Given the description of an element on the screen output the (x, y) to click on. 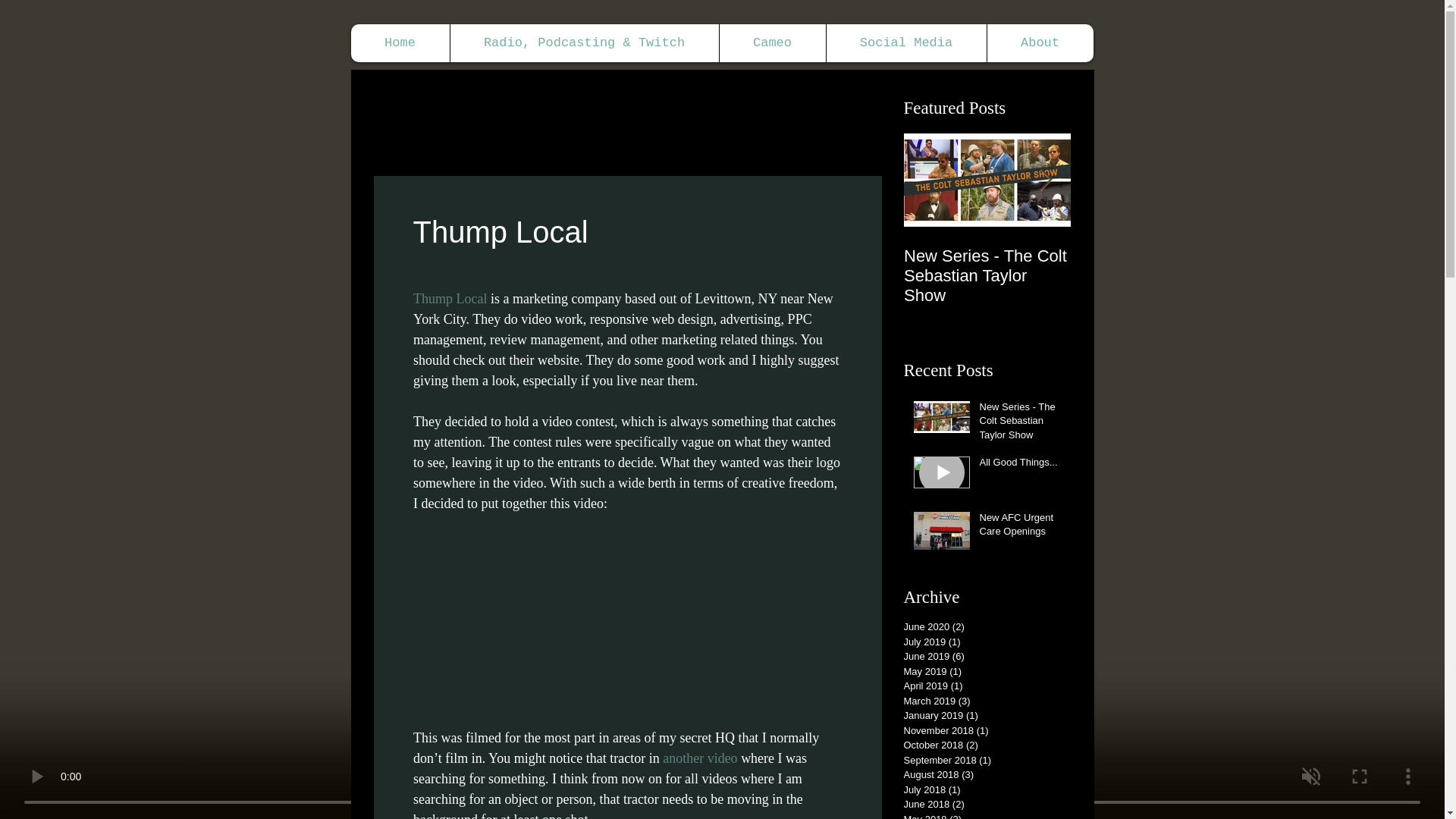
All Good Things... (1153, 256)
New Series - The Colt Sebastian Taylor Show (1020, 423)
New Series - The Colt Sebastian Taylor Show (987, 275)
Home (399, 43)
another video (699, 758)
All Good Things... (1020, 465)
New AFC Urgent Care Openings (1020, 527)
Thump Local (449, 298)
Cameo (772, 43)
About (1039, 43)
Social Media (905, 43)
